Given the description of an element on the screen output the (x, y) to click on. 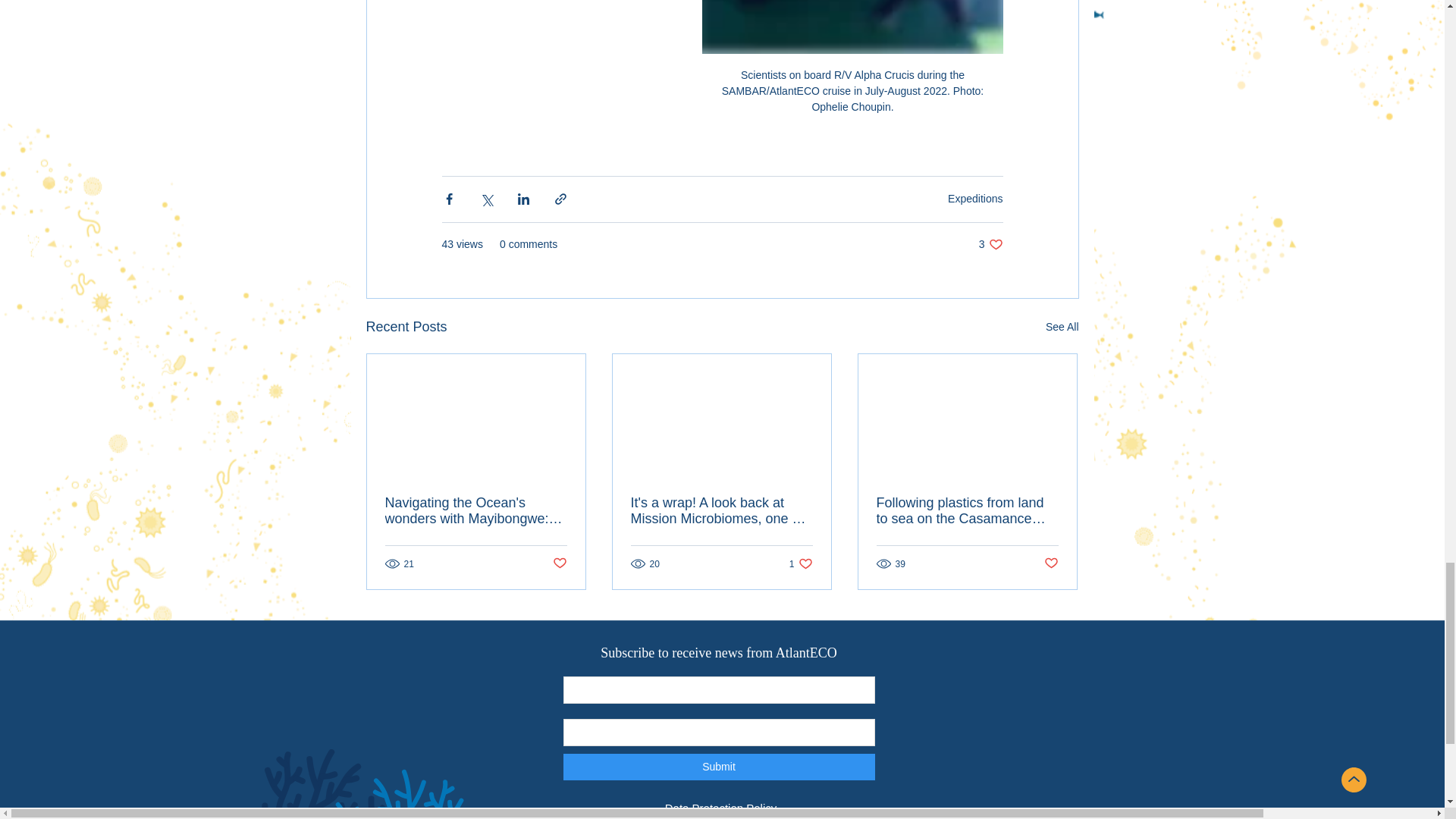
Expeditions (975, 198)
See All (990, 244)
